Given the description of an element on the screen output the (x, y) to click on. 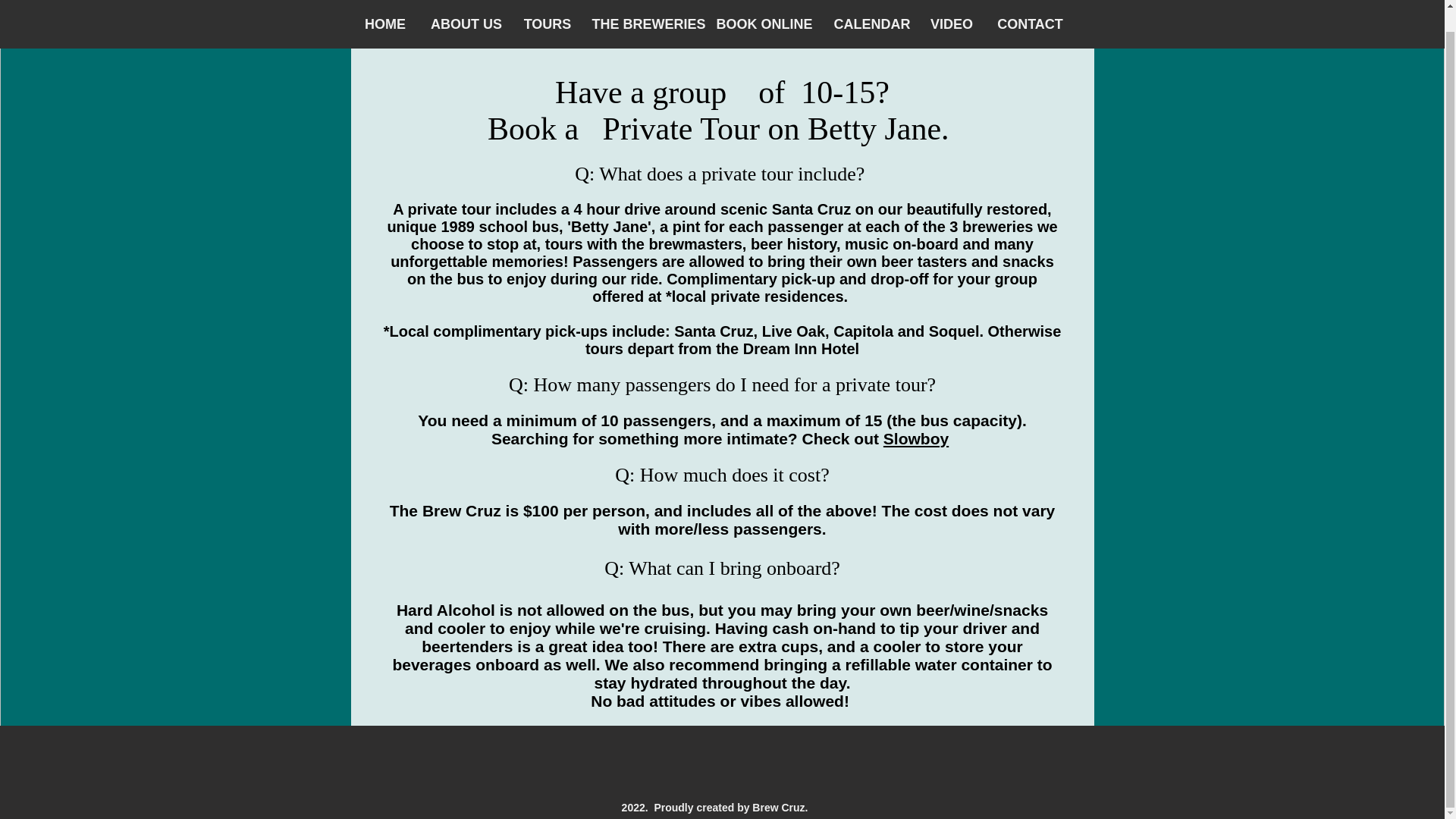
CONTACT (1029, 5)
Slowboy (916, 438)
ABOUT US (466, 5)
THE BREWERIES (643, 5)
CALENDAR (871, 5)
TOURS (546, 5)
BOOK ONLINE (764, 5)
VIDEO (951, 5)
HOME (384, 5)
